Given the description of an element on the screen output the (x, y) to click on. 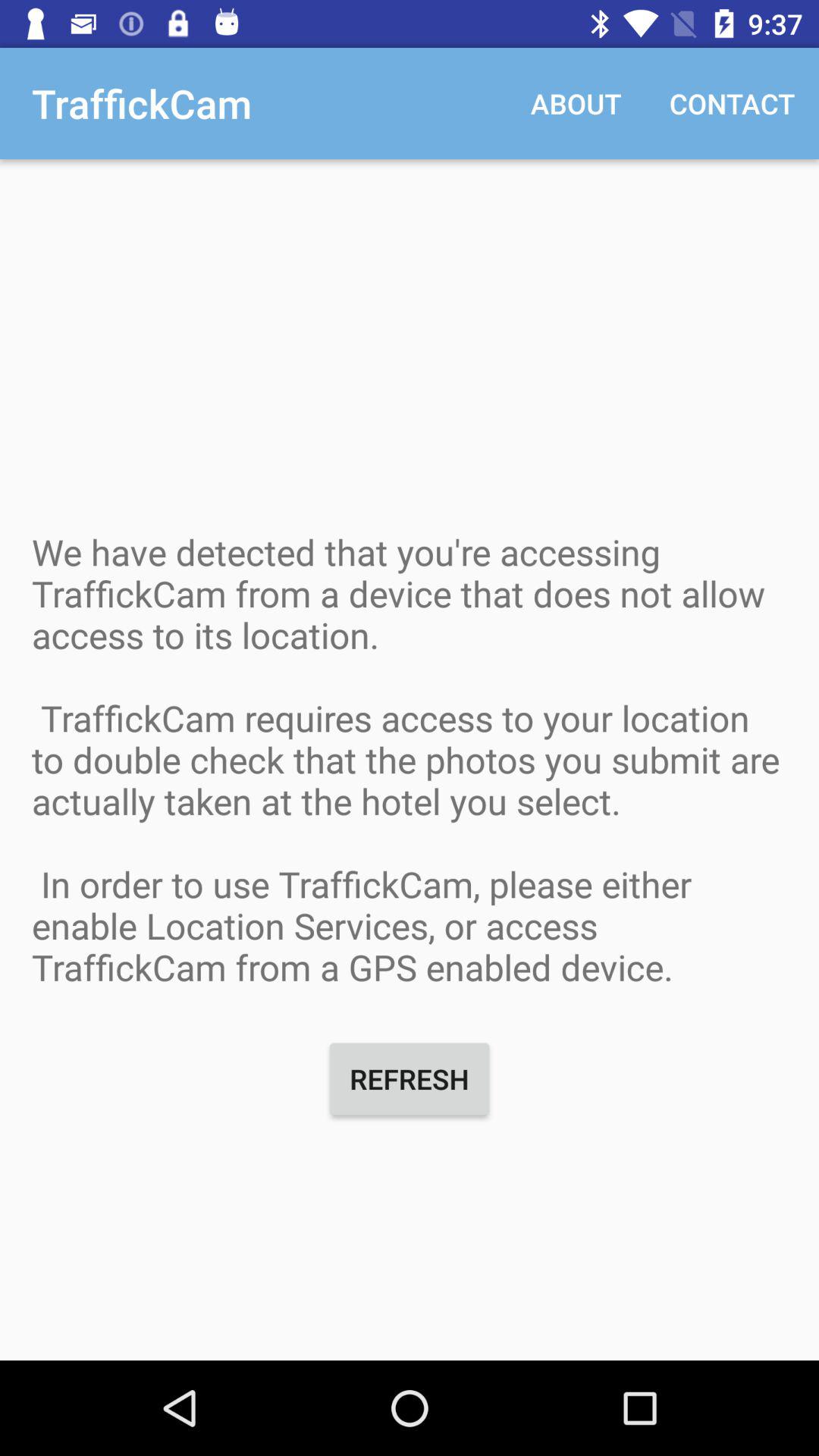
open about (575, 103)
